Given the description of an element on the screen output the (x, y) to click on. 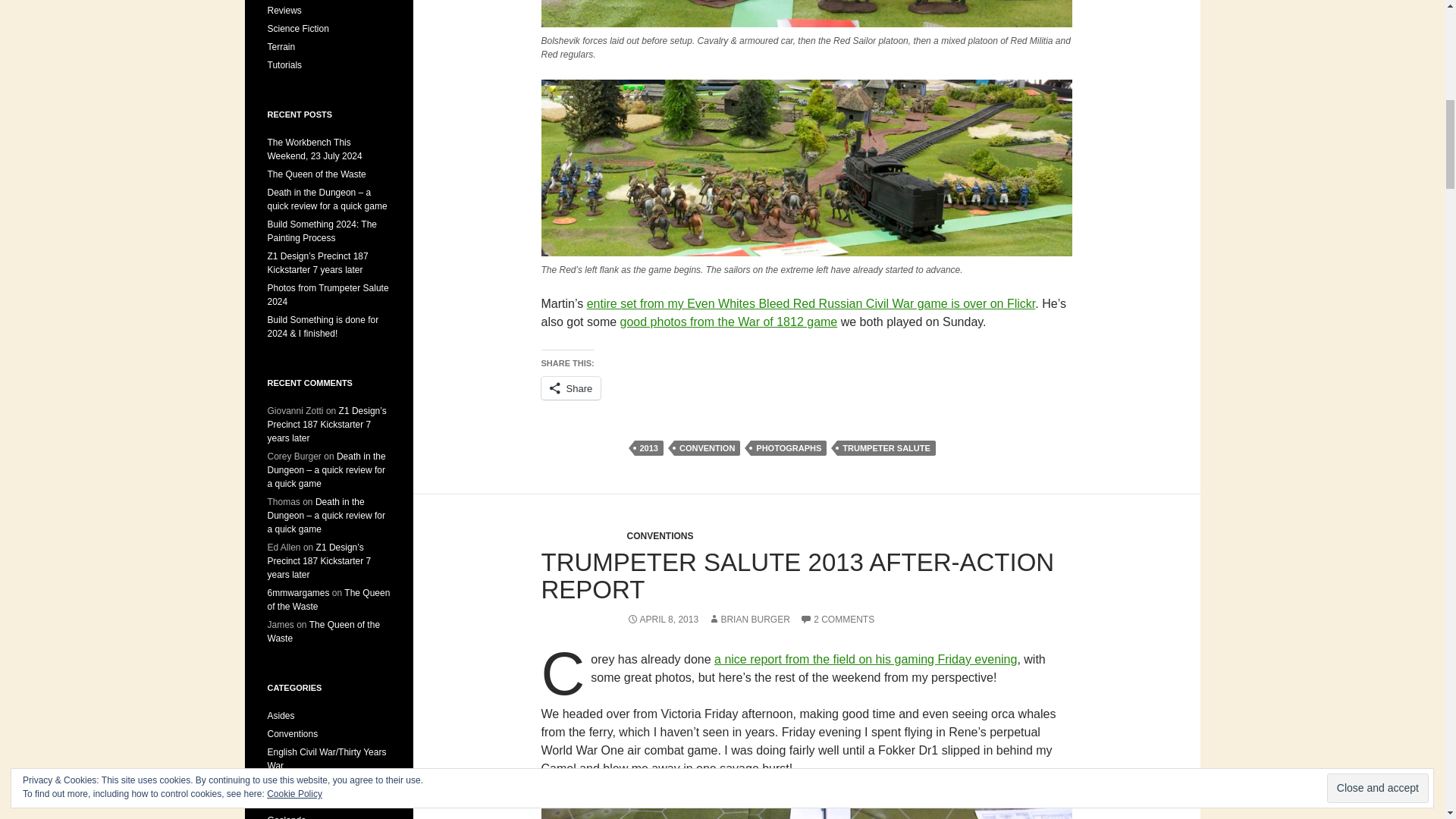
good photos from the War of 1812 game (729, 321)
Even Whites Bleed Red - Flickr set (810, 303)
Battle of Crysler's Farm, War of 1812 - Flickr set (729, 321)
An evening in the air at Trumpeter Salute (865, 658)
Share (571, 387)
